Given the description of an element on the screen output the (x, y) to click on. 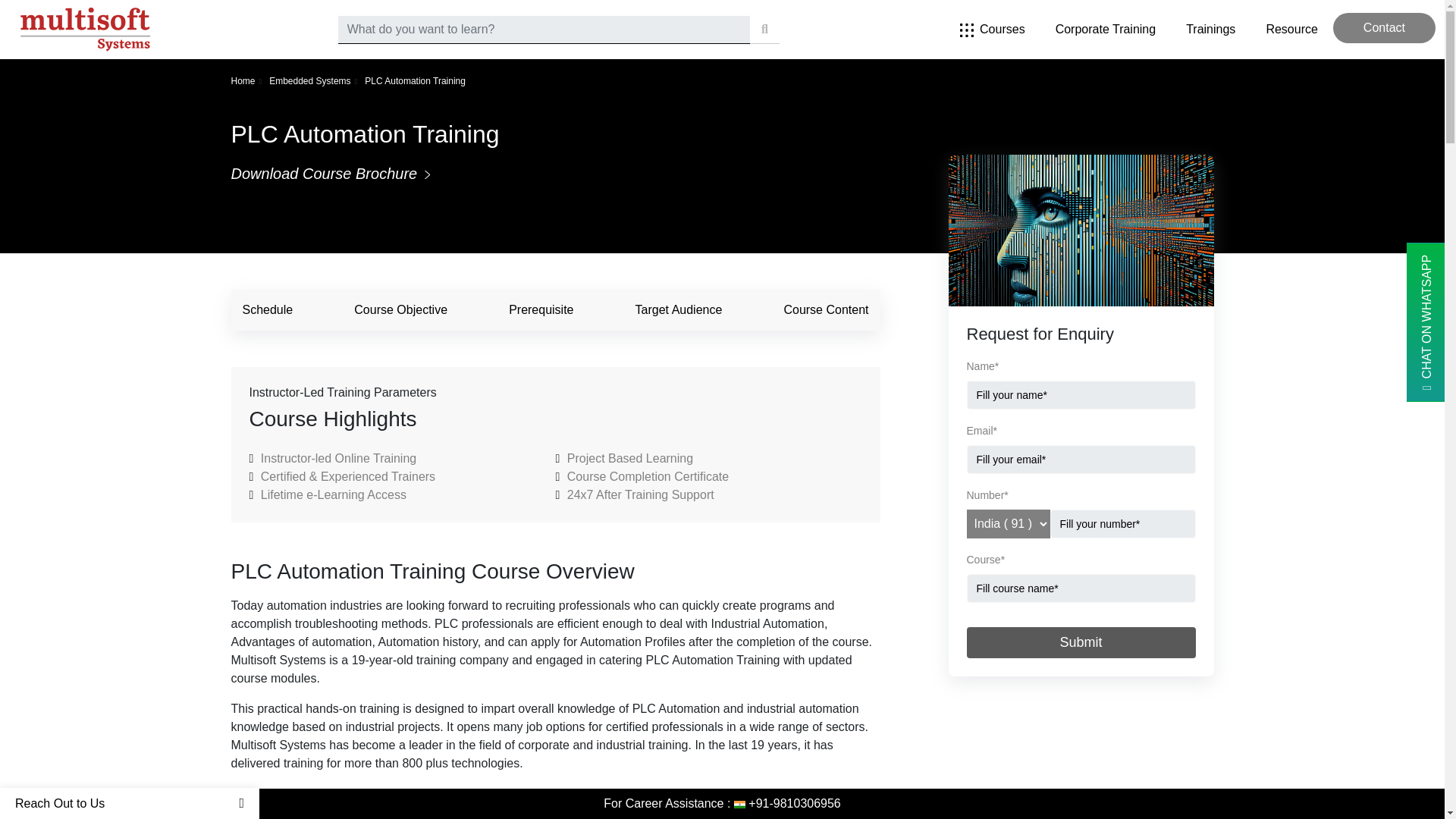
Courses (992, 29)
Corporate Training (1106, 29)
Trainings (1210, 29)
